Given the description of an element on the screen output the (x, y) to click on. 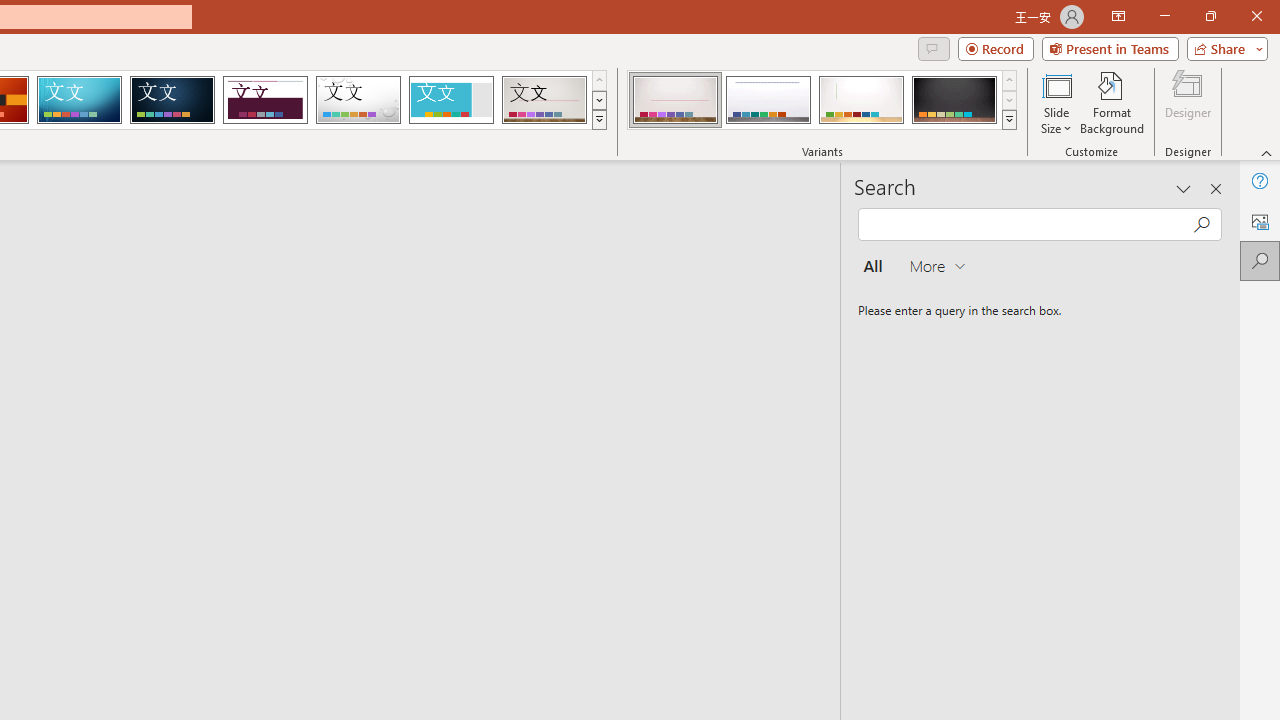
Frame (450, 100)
Damask (171, 100)
Dividend (265, 100)
AutomationID: ThemeVariantsGallery (822, 99)
Gallery Variant 2 (768, 100)
Droplet (358, 100)
